Given the description of an element on the screen output the (x, y) to click on. 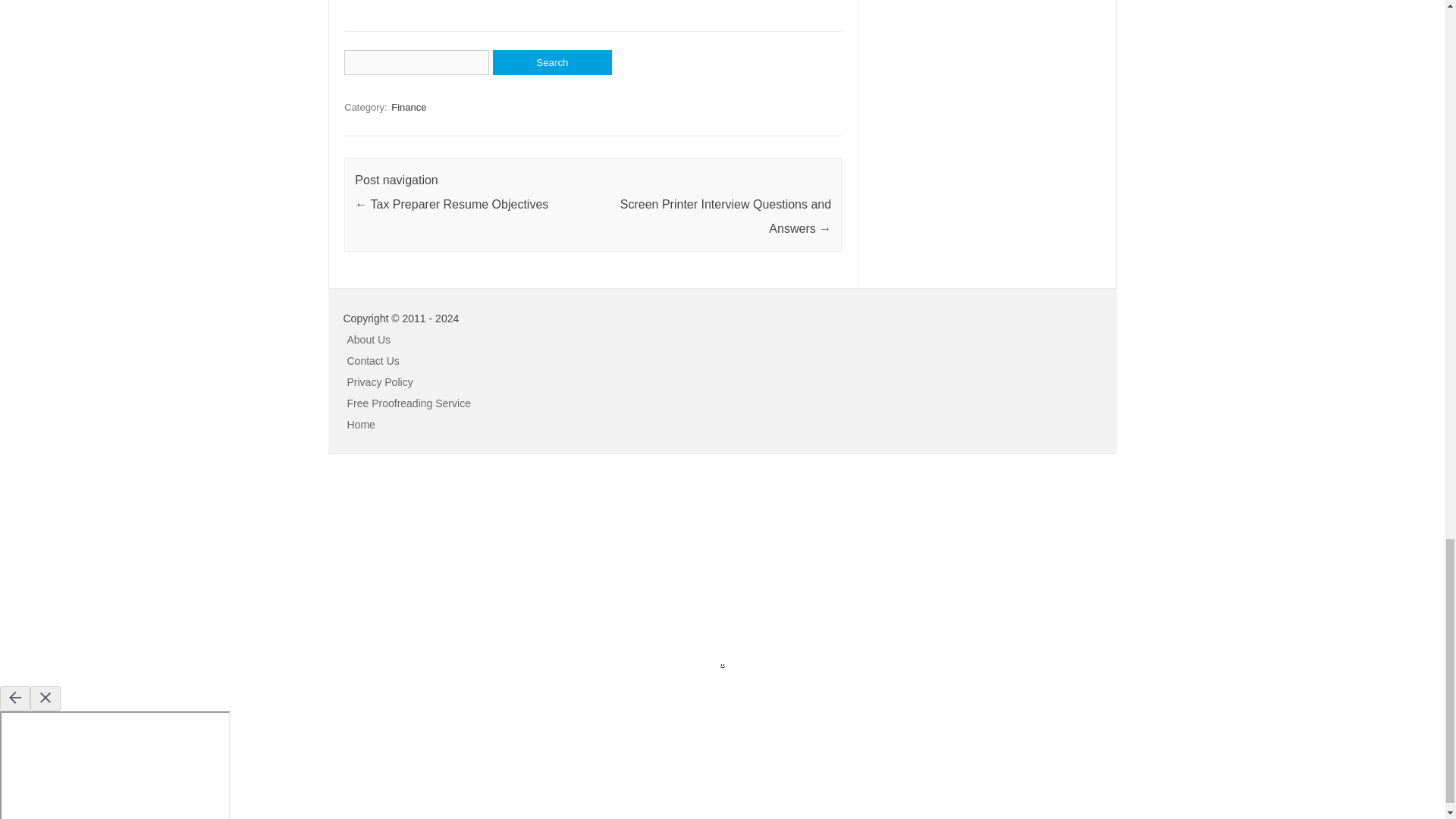
Search (552, 62)
Privacy Policy (380, 381)
Home (361, 424)
Contact Us (372, 360)
Free Proofreading Service (408, 403)
Advertisement (113, 566)
Search (552, 62)
Finance (409, 106)
About Us (369, 339)
